Given the description of an element on the screen output the (x, y) to click on. 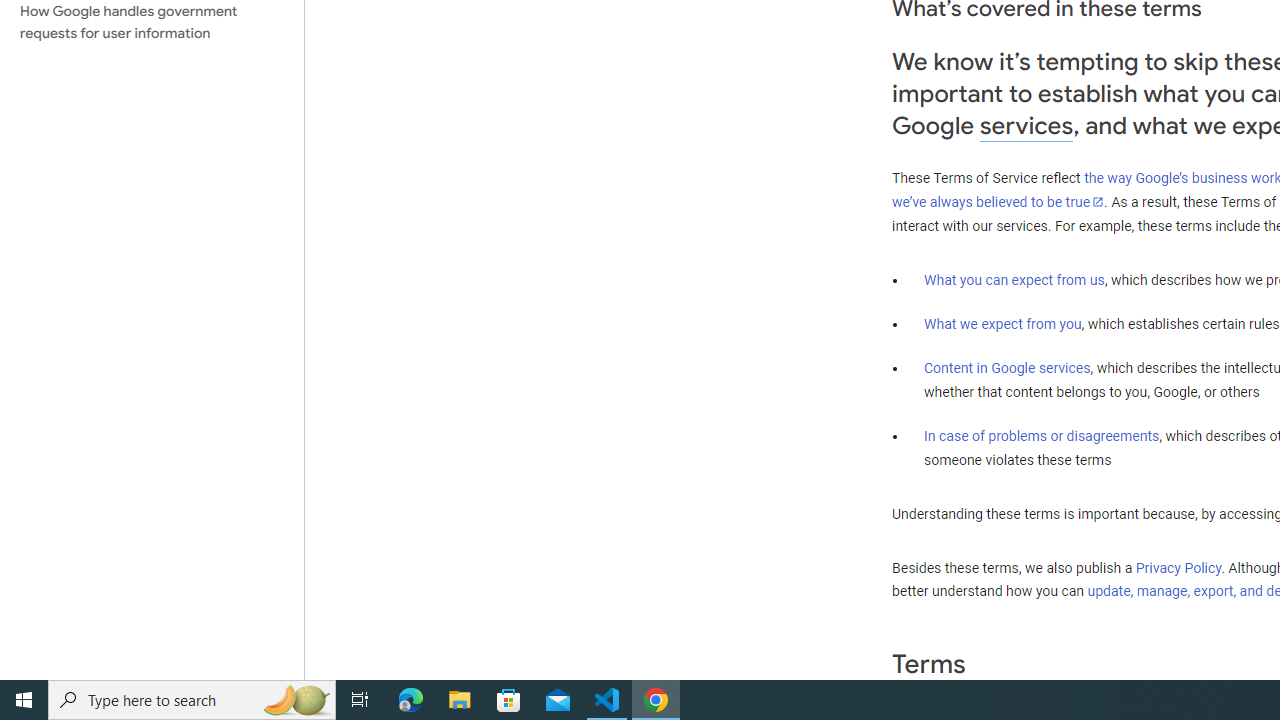
In case of problems or disagreements (1041, 435)
What you can expect from us (1014, 279)
Content in Google services (1007, 368)
Privacy Policy (1178, 567)
services (1026, 125)
What we expect from you (1002, 323)
